Given the description of an element on the screen output the (x, y) to click on. 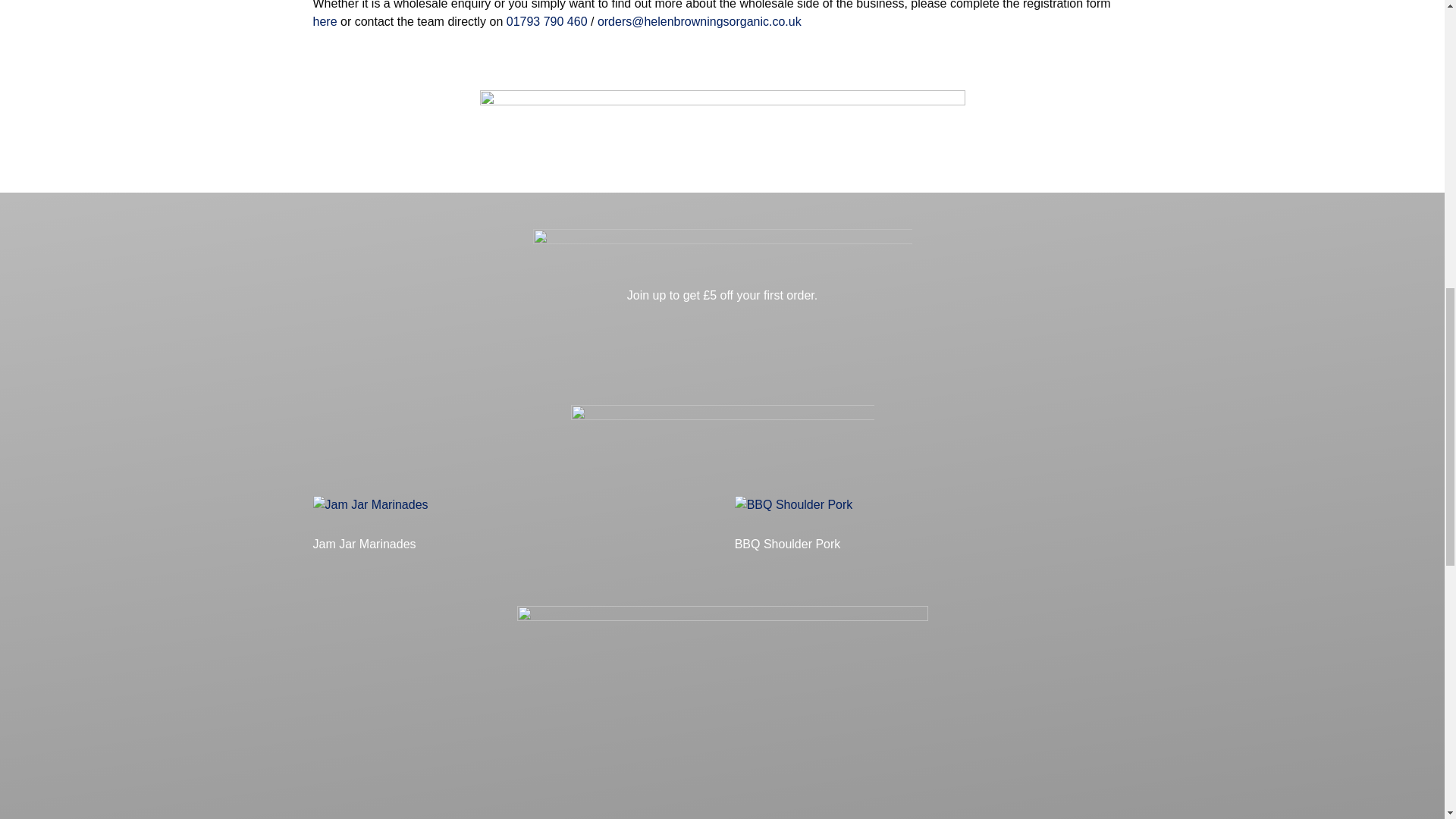
footer-newsletter-title (721, 251)
footer-latest-news-title (721, 430)
